Given the description of an element on the screen output the (x, y) to click on. 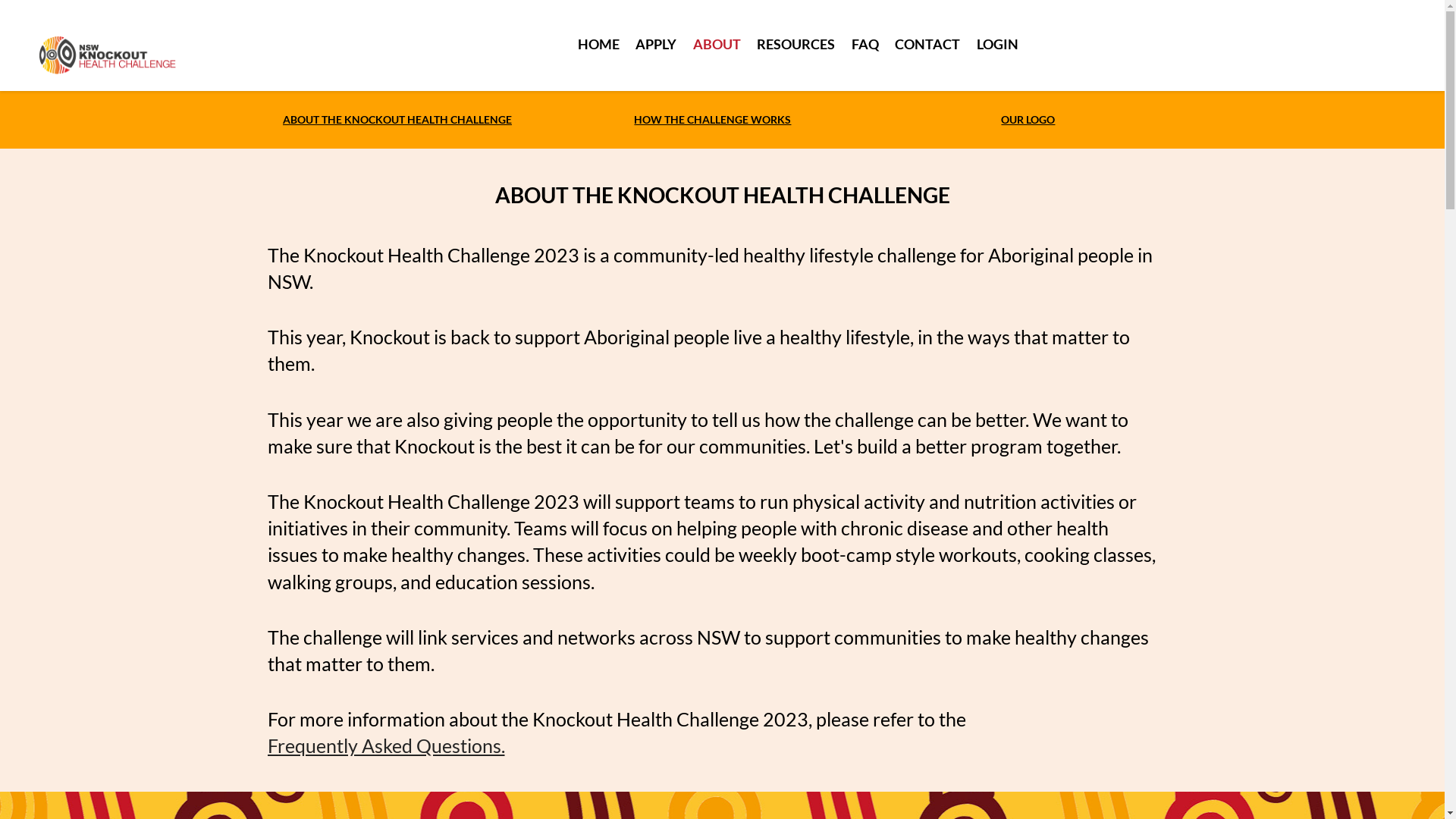
HOW THE CHALLENGE WORKS Element type: text (711, 118)
Frequently Asked Questions. Element type: text (385, 745)
ABOUT THE KNOCKOUT HEALTH CHALLENGE Element type: text (396, 118)
OUR LOGO Element type: text (1027, 118)
